Given the description of an element on the screen output the (x, y) to click on. 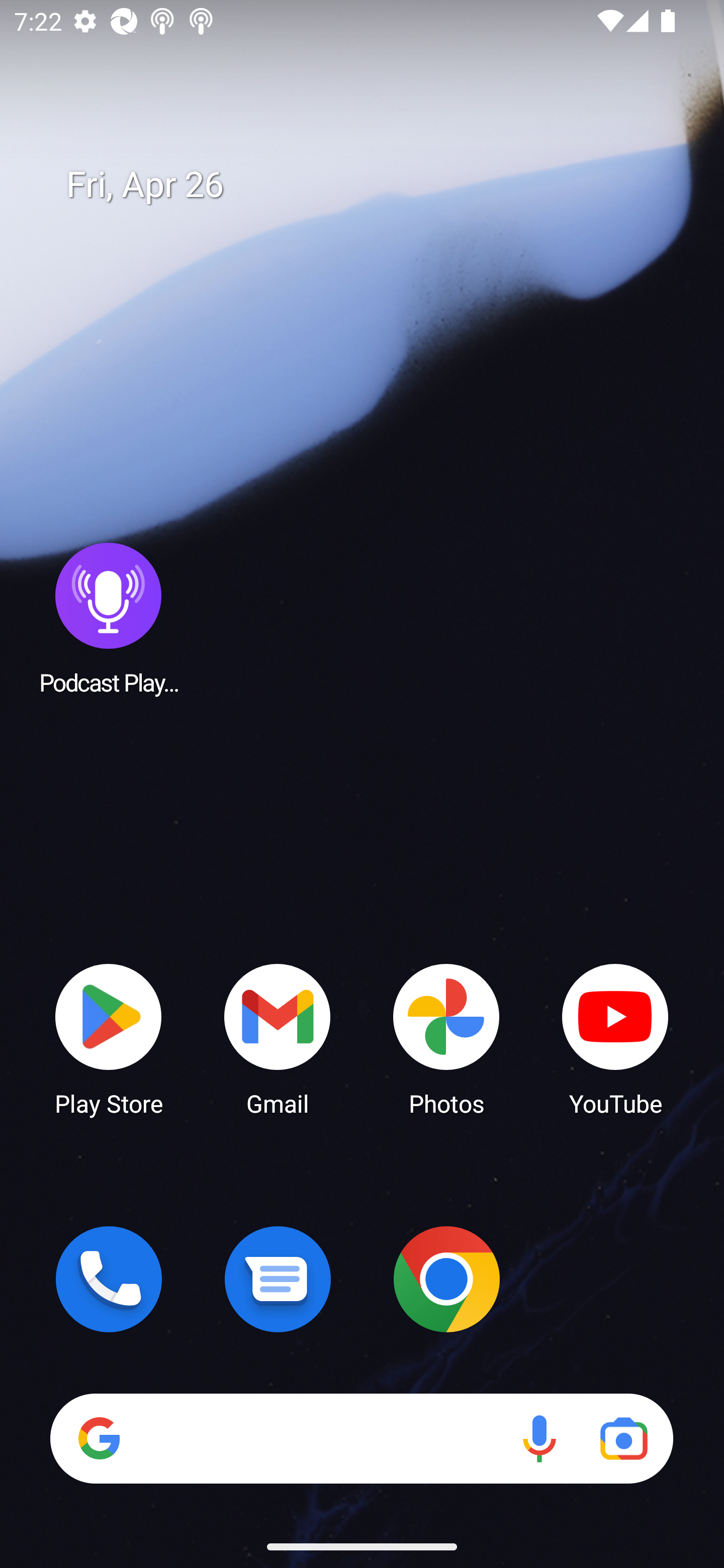
Fri, Apr 26 (375, 184)
Podcast Player (108, 617)
Play Store (108, 1038)
Gmail (277, 1038)
Photos (445, 1038)
YouTube (615, 1038)
Phone (108, 1279)
Messages (277, 1279)
Chrome (446, 1279)
Search Voice search Google Lens (361, 1438)
Voice search (539, 1438)
Google Lens (623, 1438)
